Given the description of an element on the screen output the (x, y) to click on. 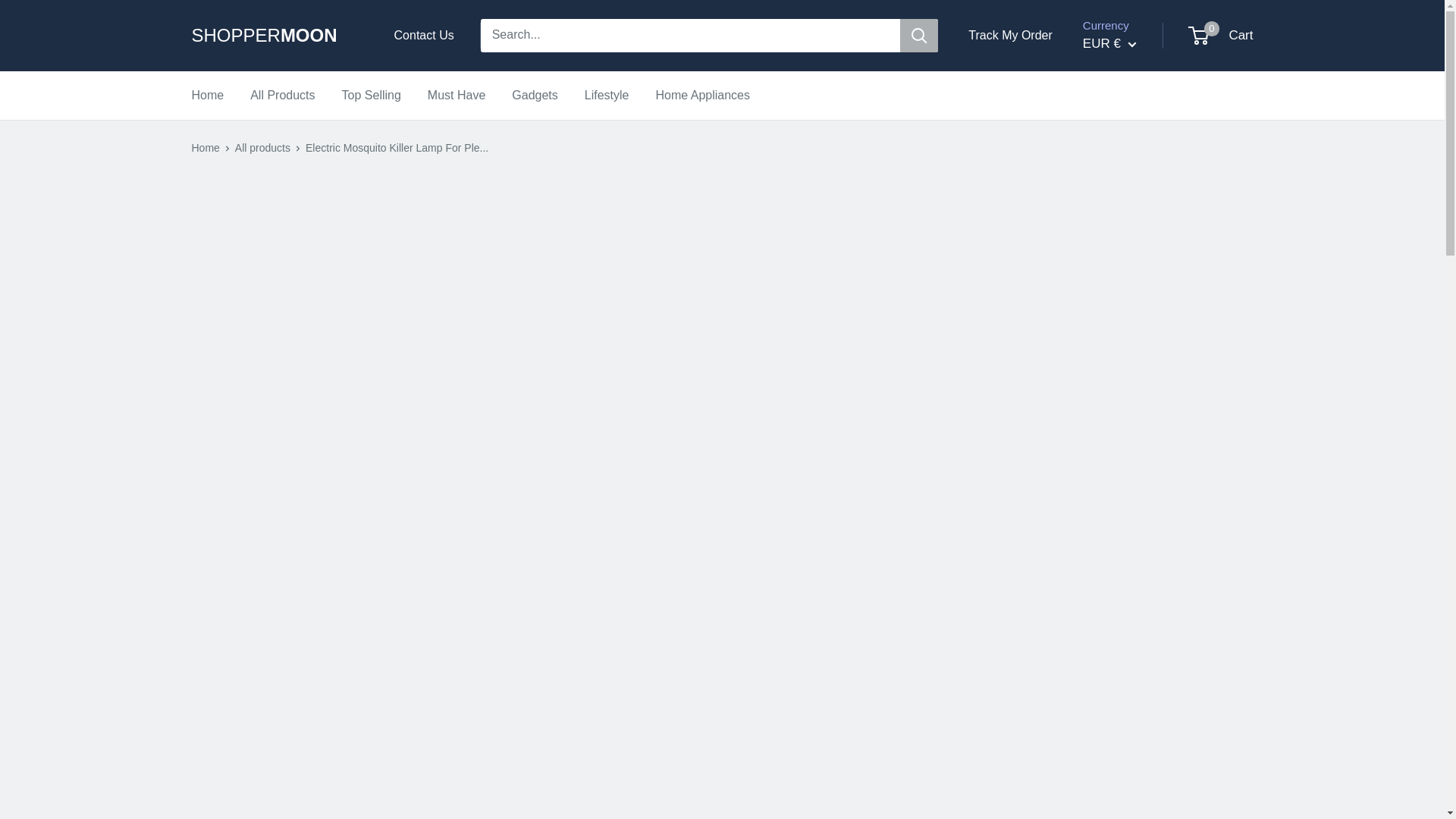
MXN (1131, 365)
PLN (1131, 480)
CHF (1131, 180)
Contact Us (424, 34)
BRL (1131, 134)
EUR (1131, 249)
SEK (1131, 503)
Track My Order (1010, 34)
AUD (1131, 110)
NOK (1131, 411)
SHOPPERMOON (278, 35)
PHP (1131, 457)
CAD (1131, 156)
HUF (1131, 295)
SGD (1131, 526)
